Given the description of an element on the screen output the (x, y) to click on. 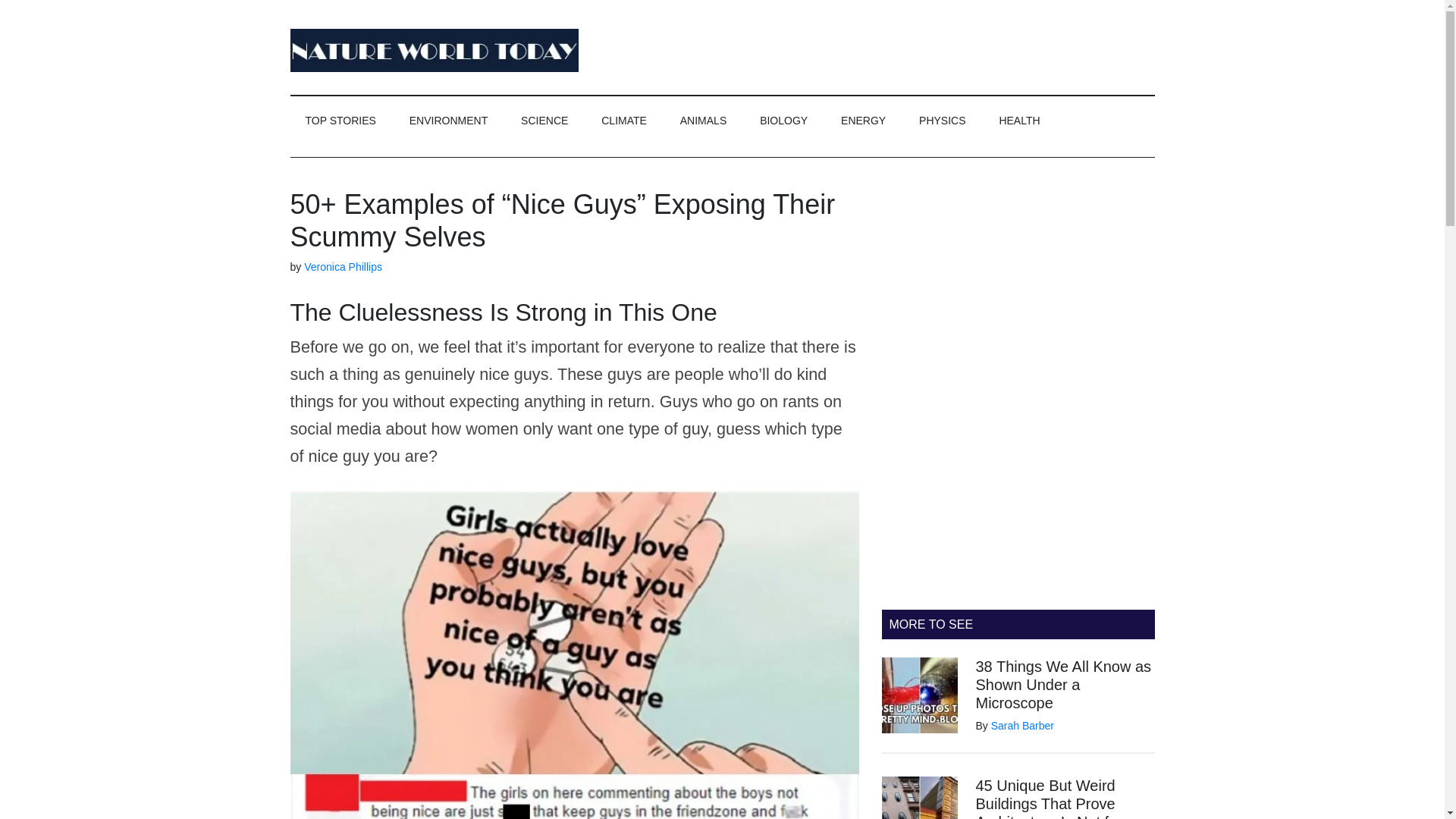
HEALTH (1019, 120)
ENVIRONMENT (448, 120)
TOP STORIES (339, 120)
PHYSICS (941, 120)
BIOLOGY (783, 120)
ENERGY (863, 120)
CLIMATE (624, 120)
